Given the description of an element on the screen output the (x, y) to click on. 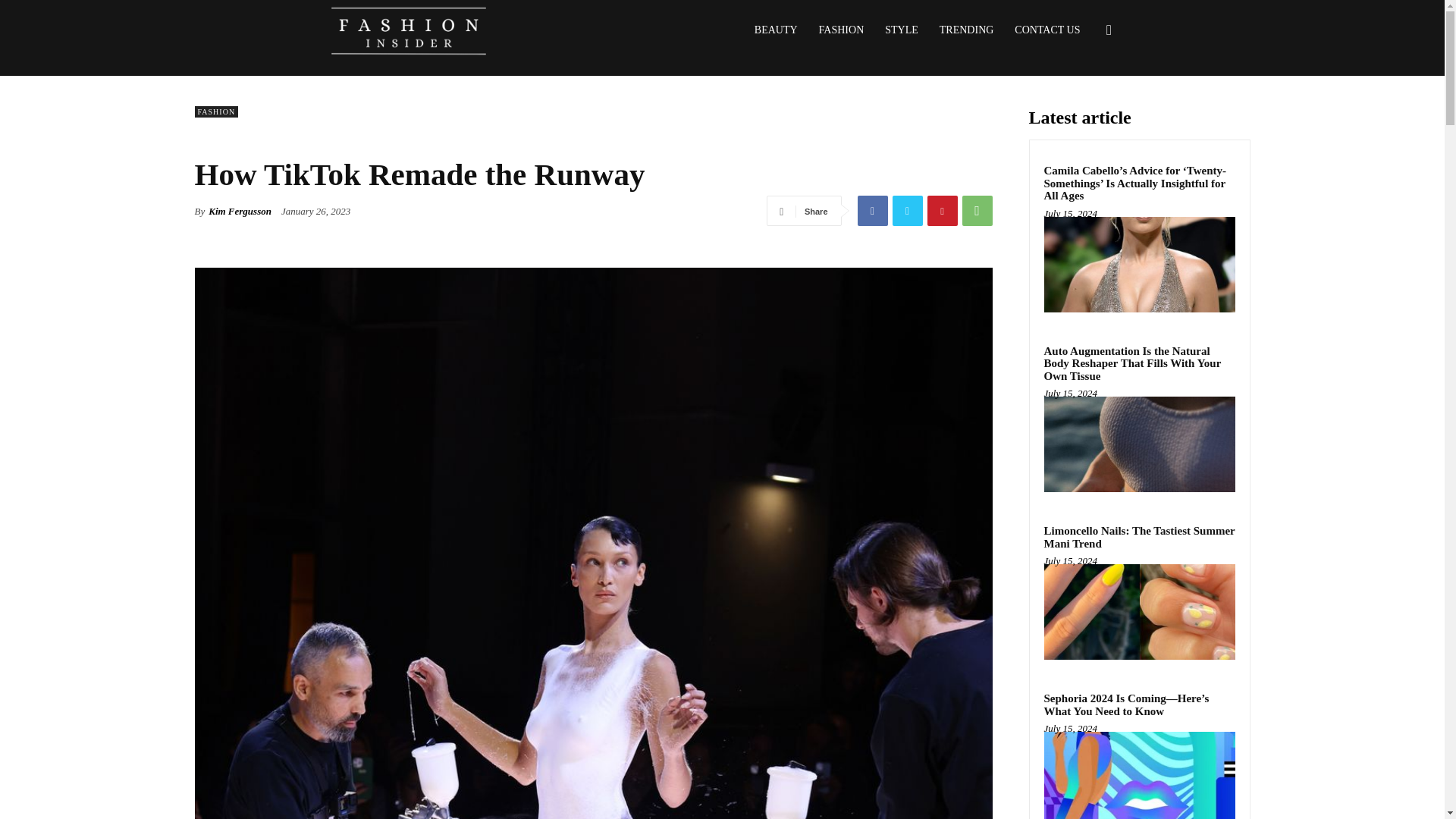
FASHION (841, 30)
Facebook (871, 210)
FASHION (215, 111)
WhatsApp (975, 210)
CONTACT US (1047, 30)
Twitter (906, 210)
STYLE (901, 30)
Kim Fergusson (239, 211)
Search (1085, 102)
Pinterest (941, 210)
BEAUTY (776, 30)
TRENDING (966, 30)
Fashion Insider Mag (408, 30)
